Given the description of an element on the screen output the (x, y) to click on. 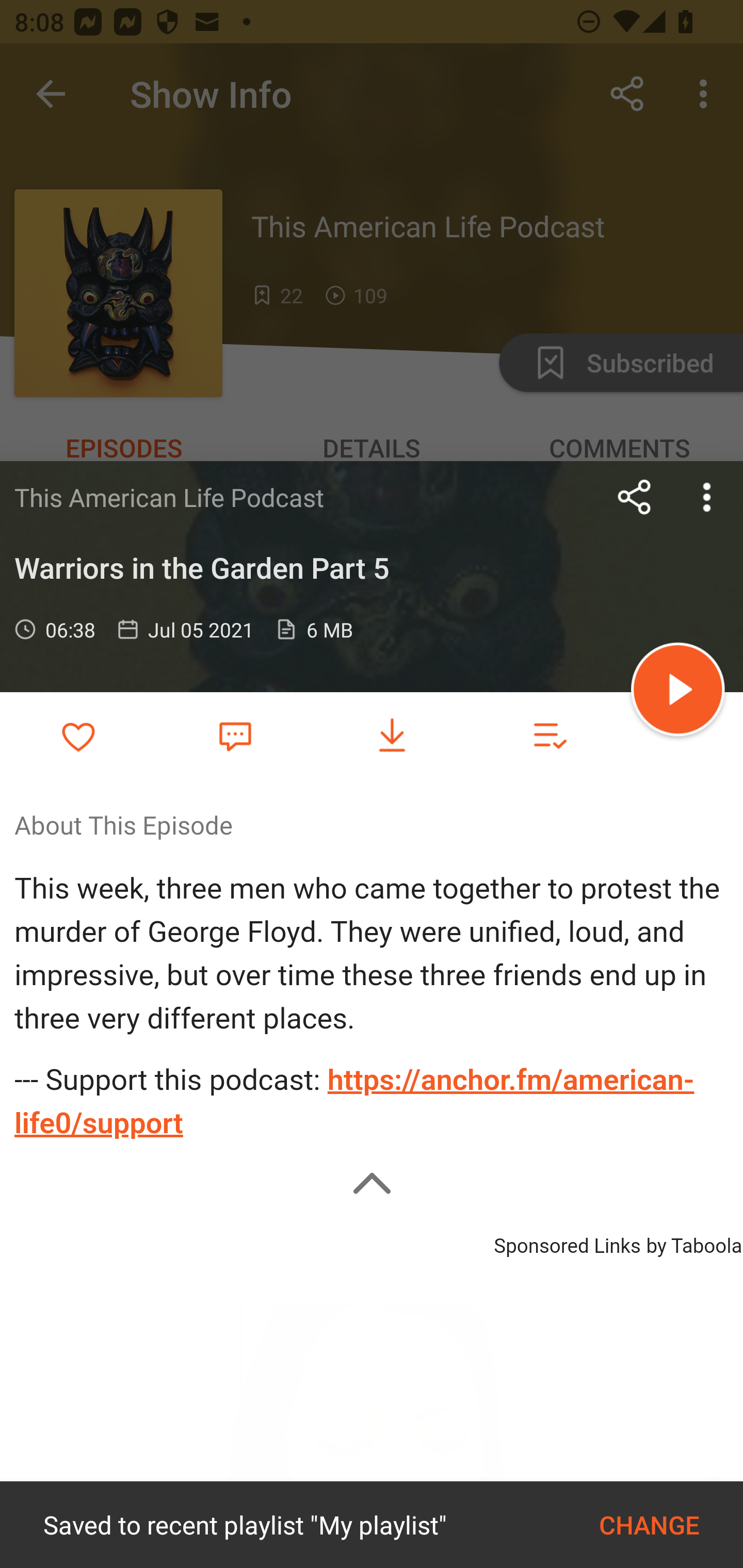
Share (634, 496)
more options (706, 496)
Play (677, 692)
Favorite (234, 735)
Add to Favorites (78, 735)
Download (391, 735)
Add to playlist (548, 735)
https://anchor.fm/american-life0/support (354, 1101)
Sponsored Links (566, 1243)
by Taboola (693, 1243)
Saved to recent playlist "My playlist" CHANGE (371, 1524)
CHANGE (648, 1524)
